Given the description of an element on the screen output the (x, y) to click on. 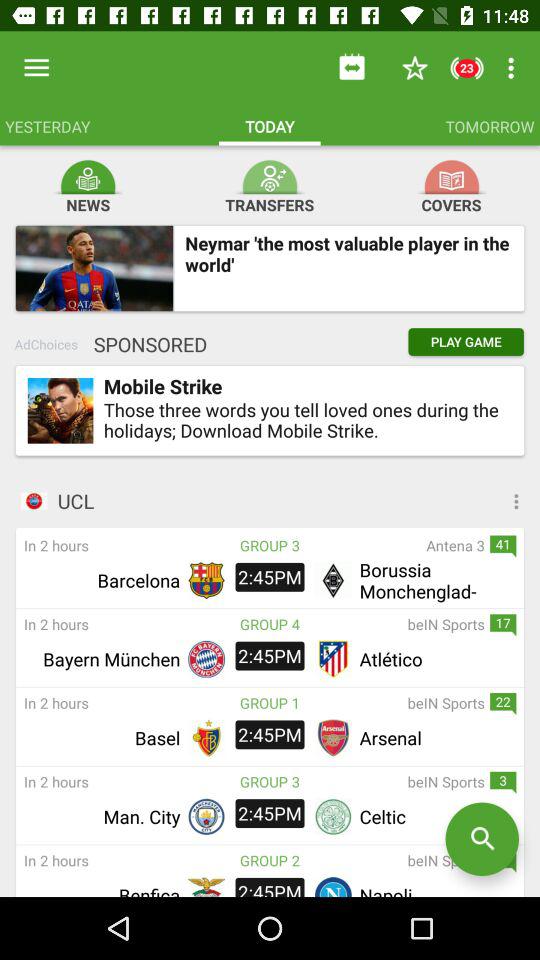
flip to the ucl (298, 500)
